Given the description of an element on the screen output the (x, y) to click on. 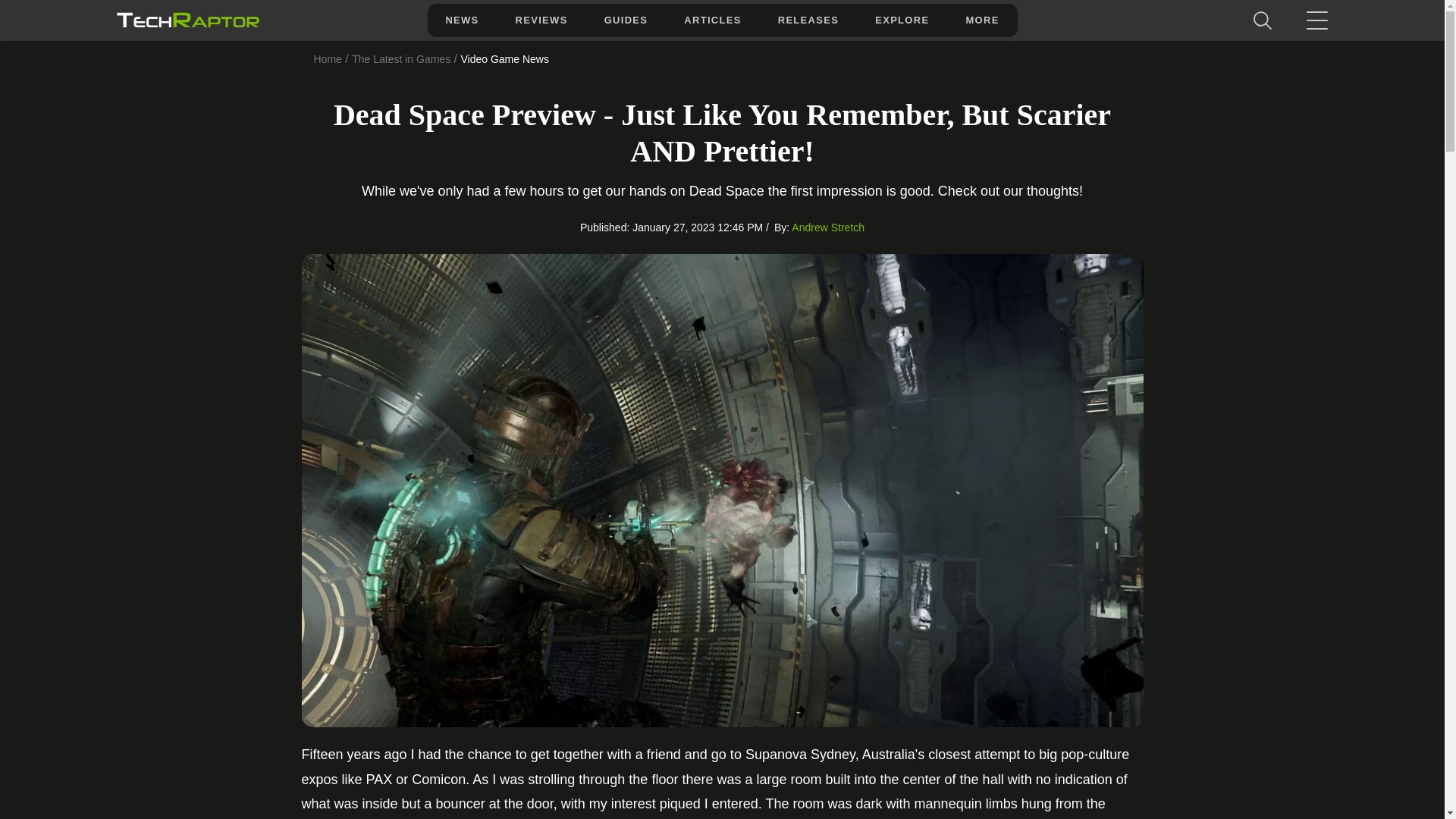
ARTICLES (711, 20)
NEWS (461, 20)
TechRaptor Home (187, 20)
GUIDES (626, 20)
RELEASES (807, 20)
REVIEWS (541, 20)
